Given the description of an element on the screen output the (x, y) to click on. 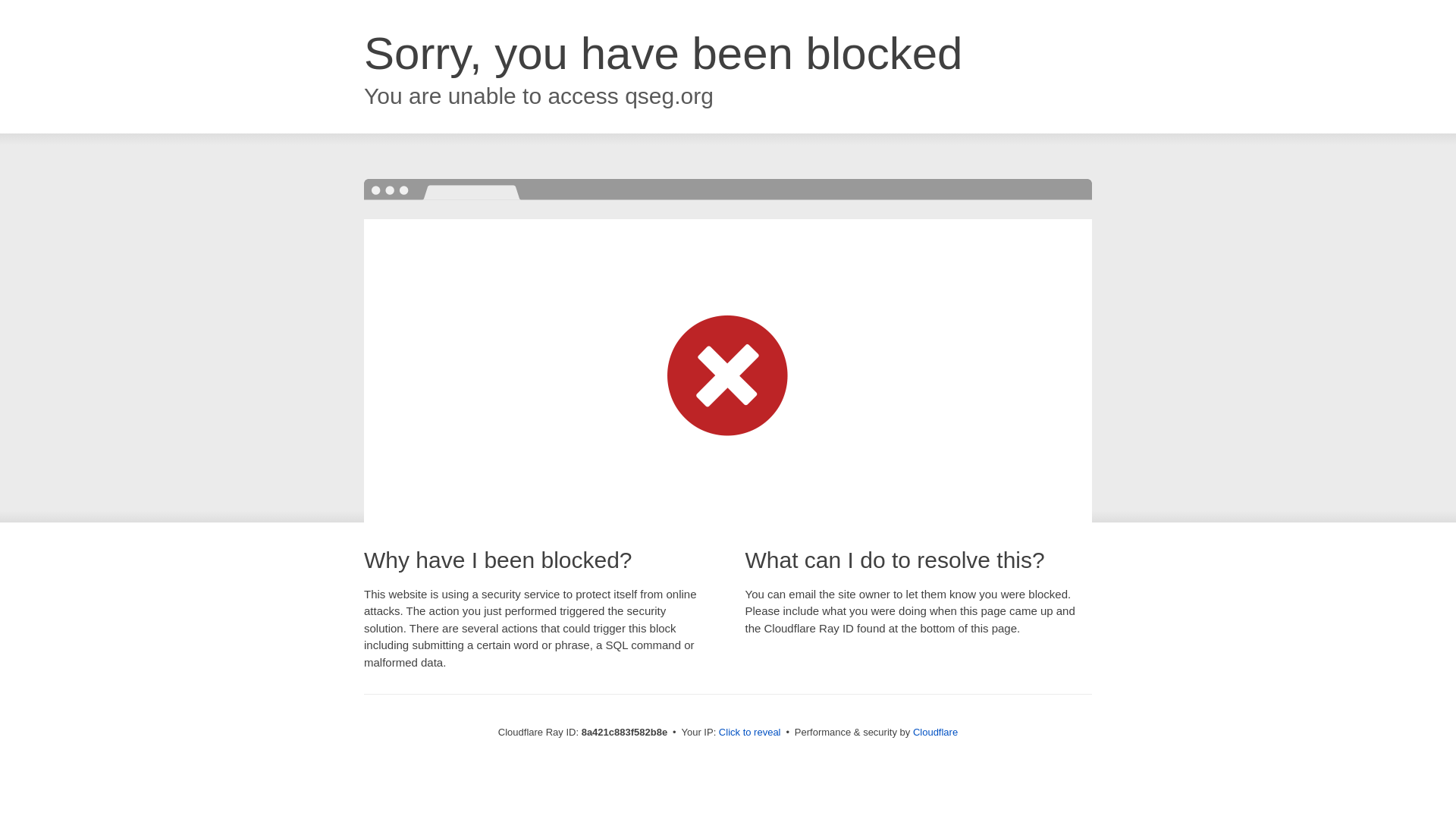
Cloudflare (935, 731)
Click to reveal (749, 732)
